Given the description of an element on the screen output the (x, y) to click on. 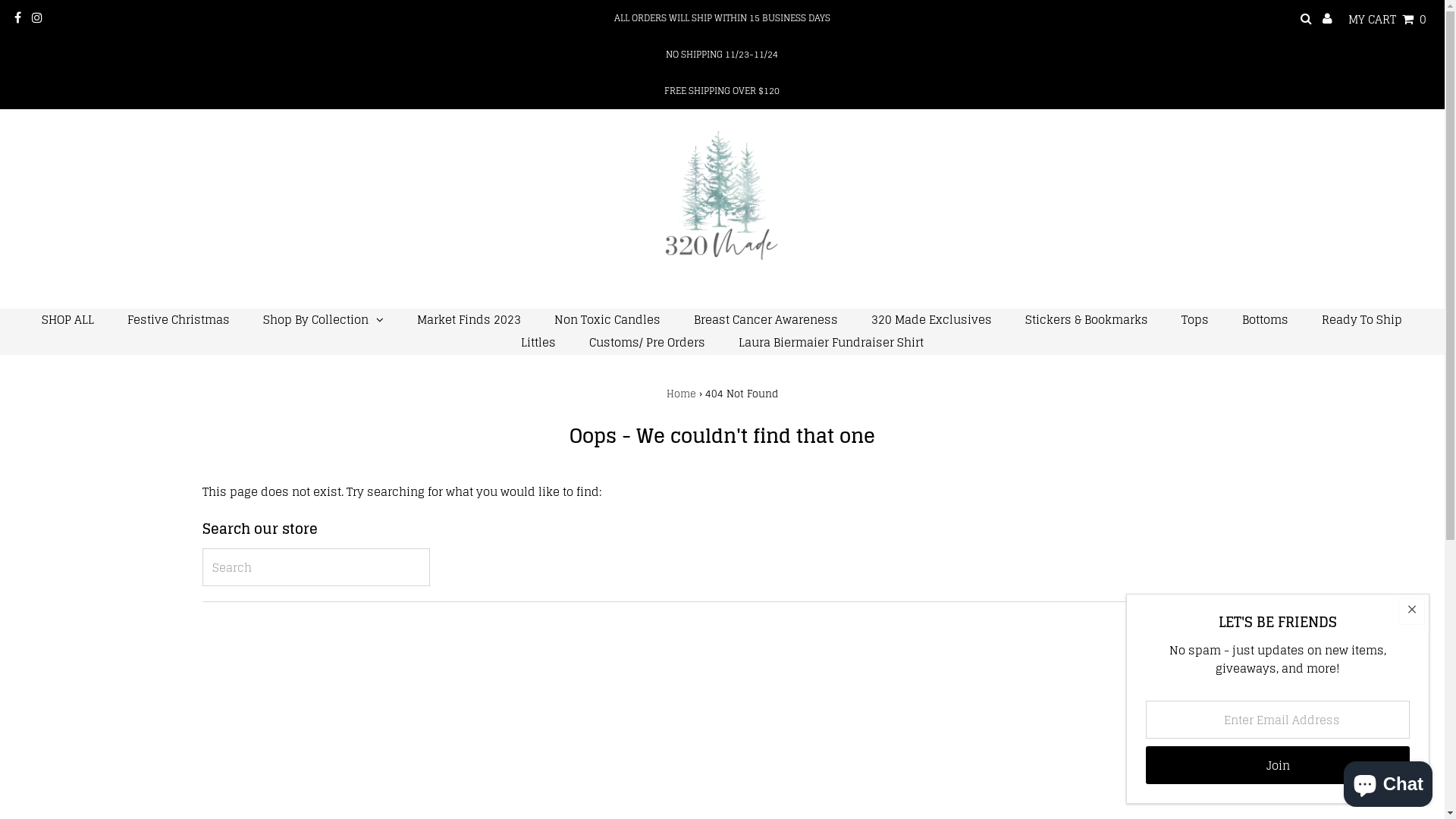
Tops Element type: text (1194, 319)
SHOP ALL Element type: text (67, 319)
Littles Element type: text (538, 342)
Non Toxic Candles Element type: text (607, 319)
Home Element type: text (681, 393)
320 Made Exclusives Element type: text (931, 319)
Breast Cancer Awareness Element type: text (765, 319)
Stickers & Bookmarks Element type: text (1086, 319)
Shop By Collection Element type: text (322, 319)
Bottoms Element type: text (1264, 319)
Ready To Ship Element type: text (1361, 319)
Laura Biermaier Fundraiser Shirt Element type: text (830, 342)
MY CART    0 Element type: text (1386, 18)
Join Element type: text (1277, 765)
Customs/ Pre Orders Element type: text (647, 342)
Shopify online store chat Element type: hover (1388, 780)
Festive Christmas Element type: text (178, 319)
Market Finds 2023 Element type: text (468, 319)
